Given the description of an element on the screen output the (x, y) to click on. 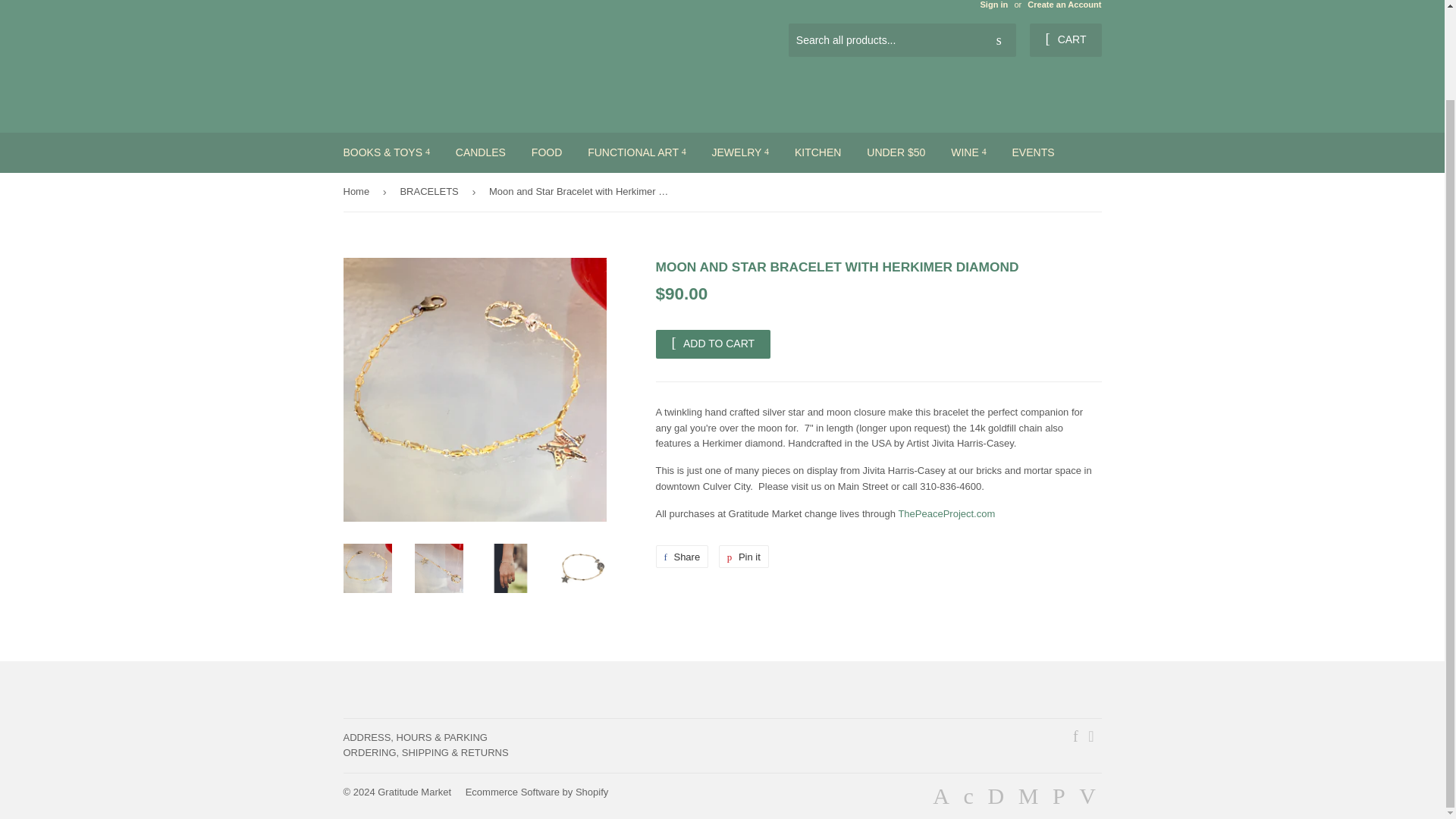
Search (998, 40)
Pin on Pinterest (743, 556)
Create an Account (1063, 4)
Share on Facebook (681, 556)
CART (1064, 39)
Sign in (993, 4)
